Given the description of an element on the screen output the (x, y) to click on. 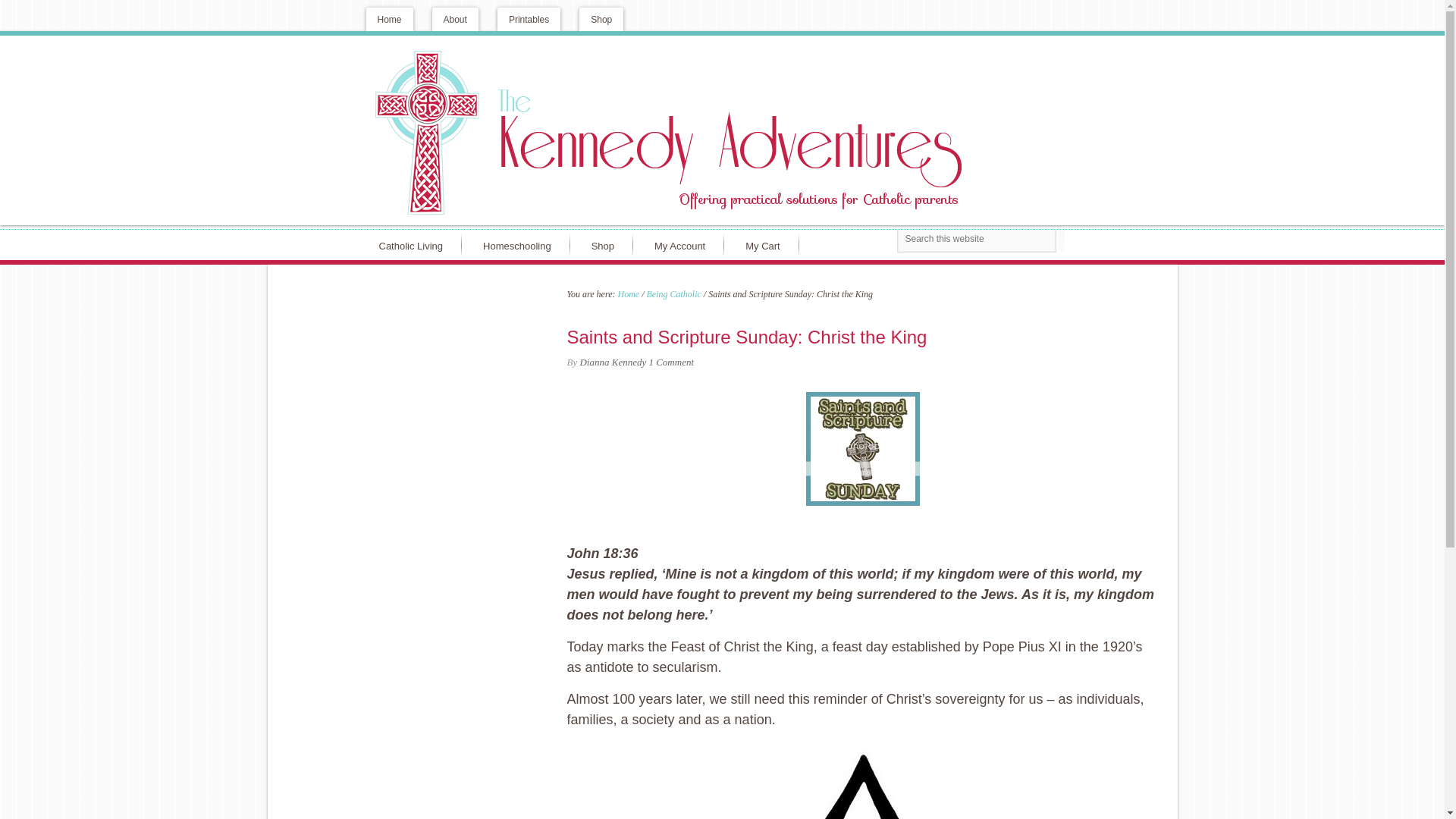
Printables (528, 19)
About (455, 19)
Dianna Kennedy (612, 361)
Shop (605, 245)
Being Catholic (673, 293)
Catholic Living (414, 245)
My Cart (765, 245)
Alpha and omega (862, 780)
Home (628, 293)
Home (388, 19)
Homeschooling (520, 245)
My Account (683, 245)
1 Comment (670, 361)
Shop (601, 19)
